Given the description of an element on the screen output the (x, y) to click on. 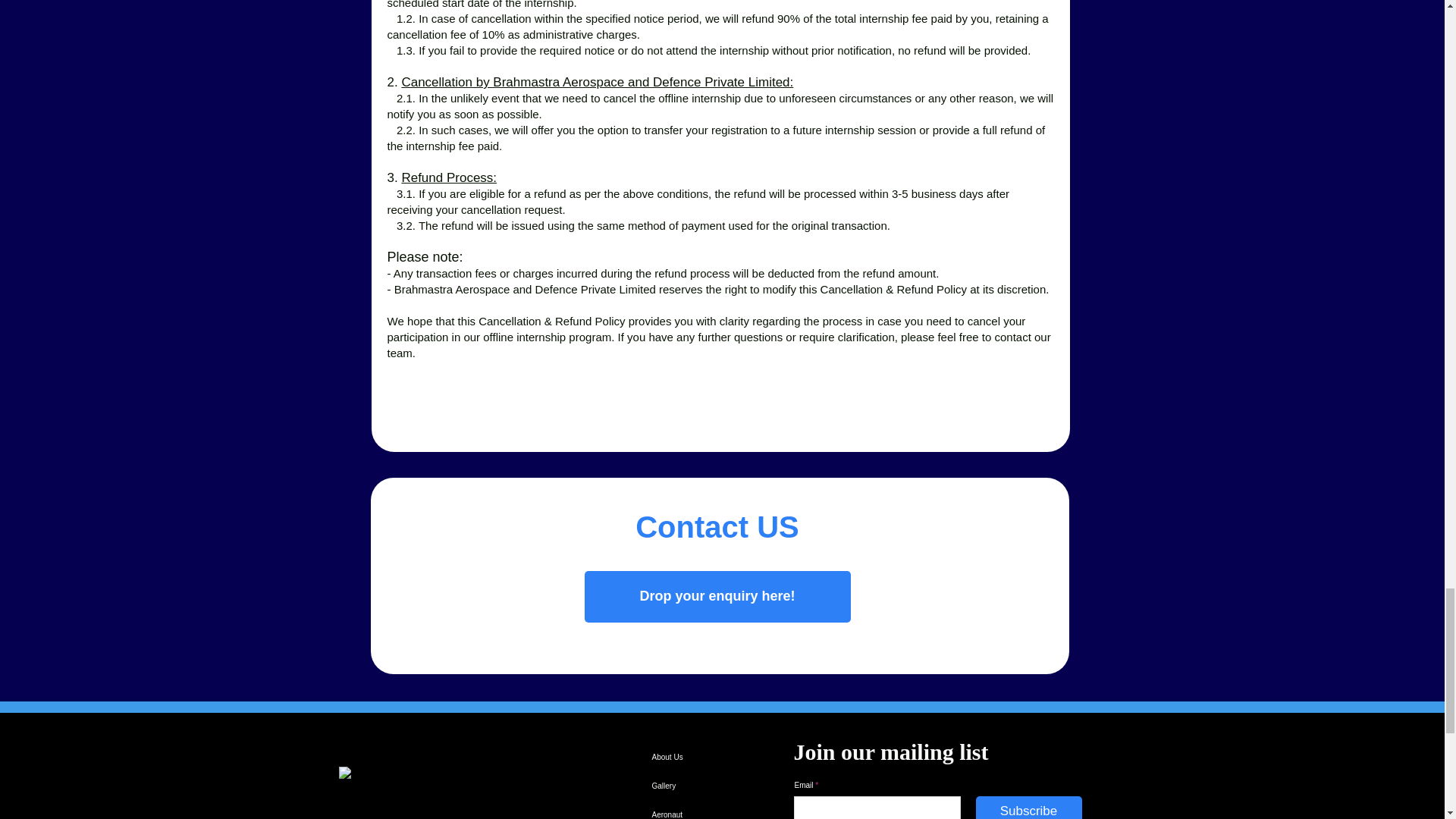
Gallery (686, 786)
About Us (686, 757)
Drop your enquiry here! (716, 596)
Aeronaut (686, 809)
